Given the description of an element on the screen output the (x, y) to click on. 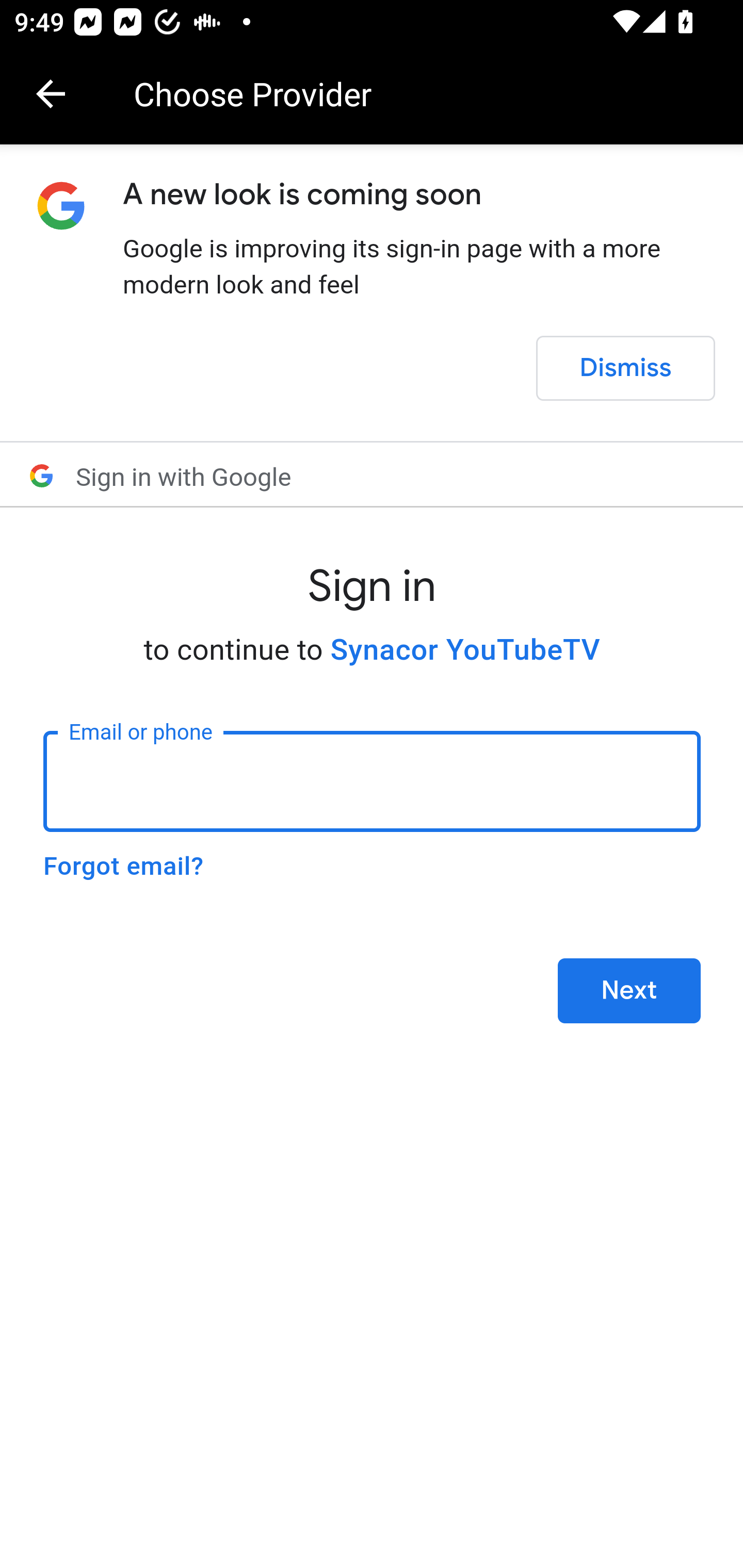
Navigate up (50, 93)
Dismiss (625, 368)
Synacor YouTubeTV (465, 649)
Forgot email? (123, 865)
Next (629, 990)
